Given the description of an element on the screen output the (x, y) to click on. 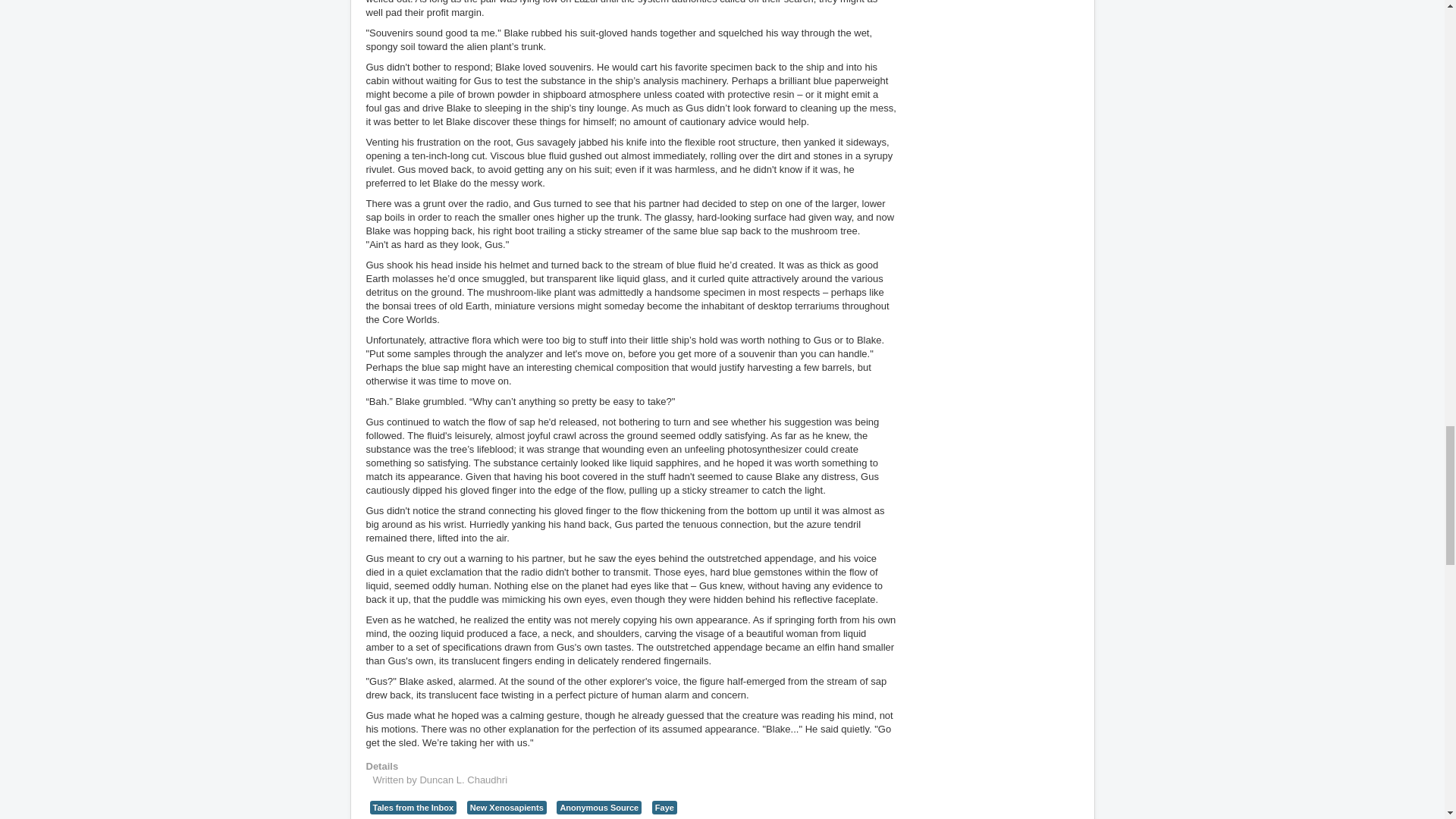
Tales from the Inbox (413, 807)
New Xenosapients (507, 807)
Faye (664, 807)
Anonymous Source (599, 807)
